Given the description of an element on the screen output the (x, y) to click on. 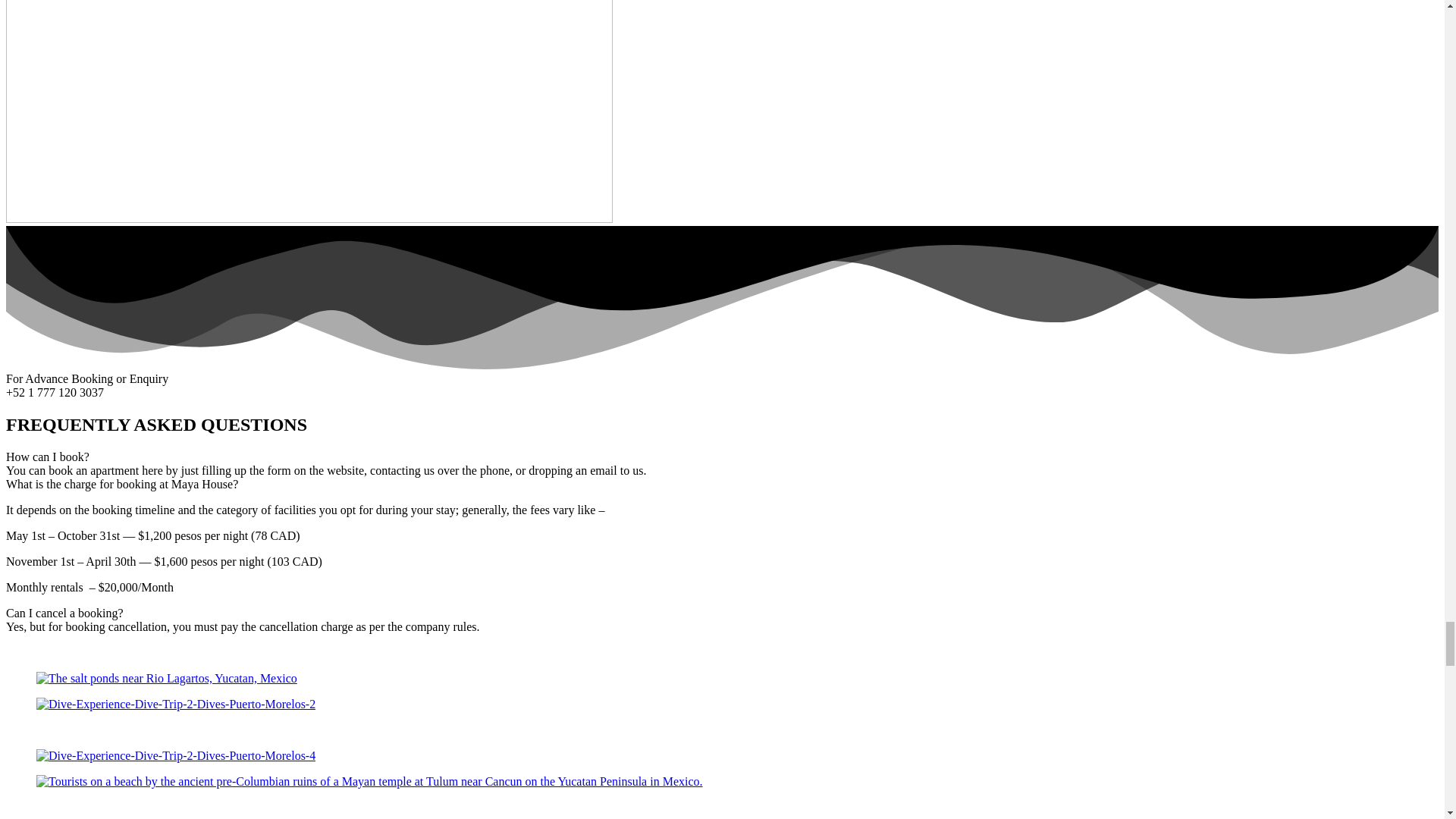
How can I book? (46, 456)
Can I cancel a booking? (64, 612)
What is the charge for booking at Maya House? (121, 483)
